Given the description of an element on the screen output the (x, y) to click on. 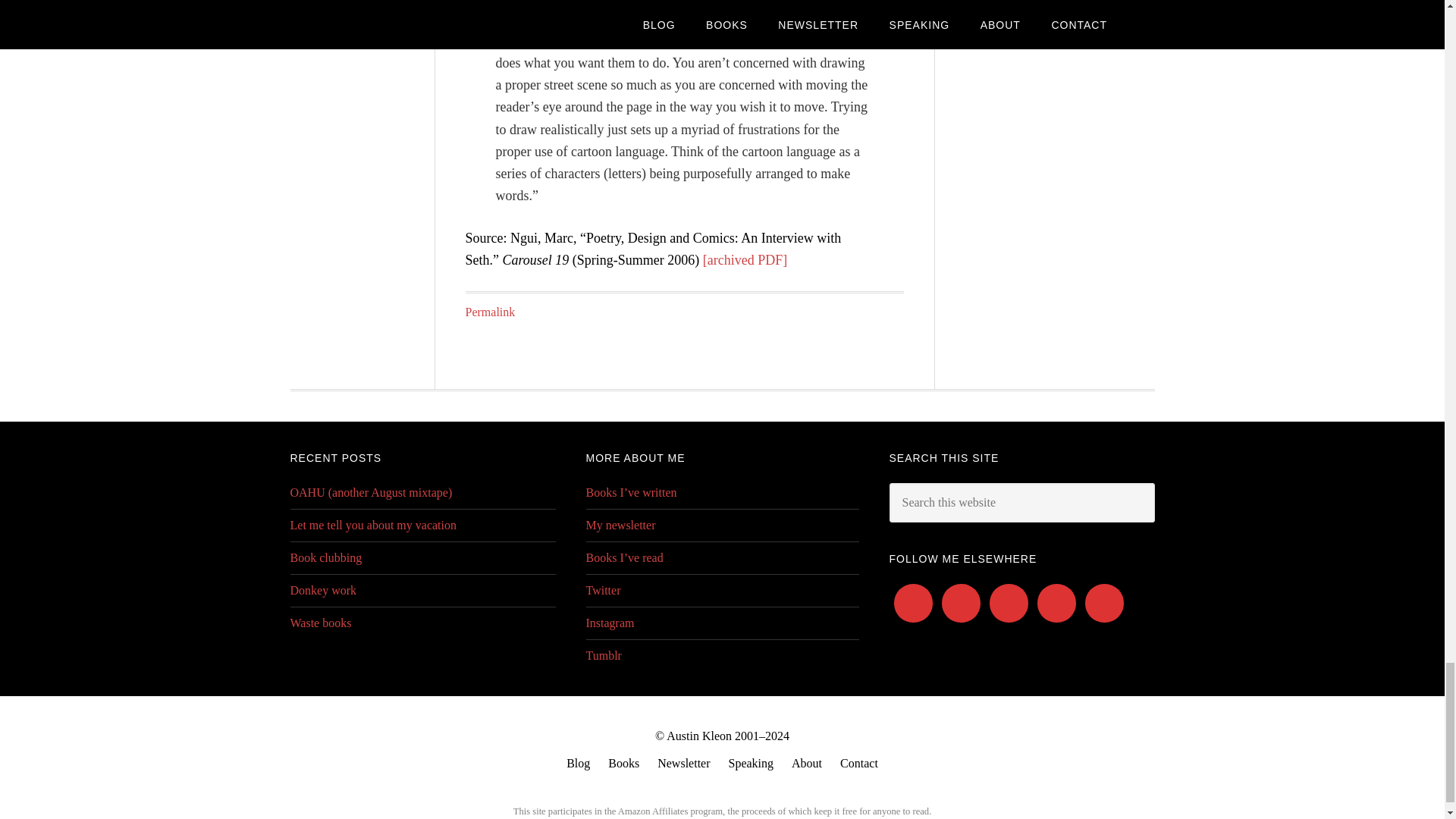
Read my books (623, 763)
Permalink (490, 311)
